Given the description of an element on the screen output the (x, y) to click on. 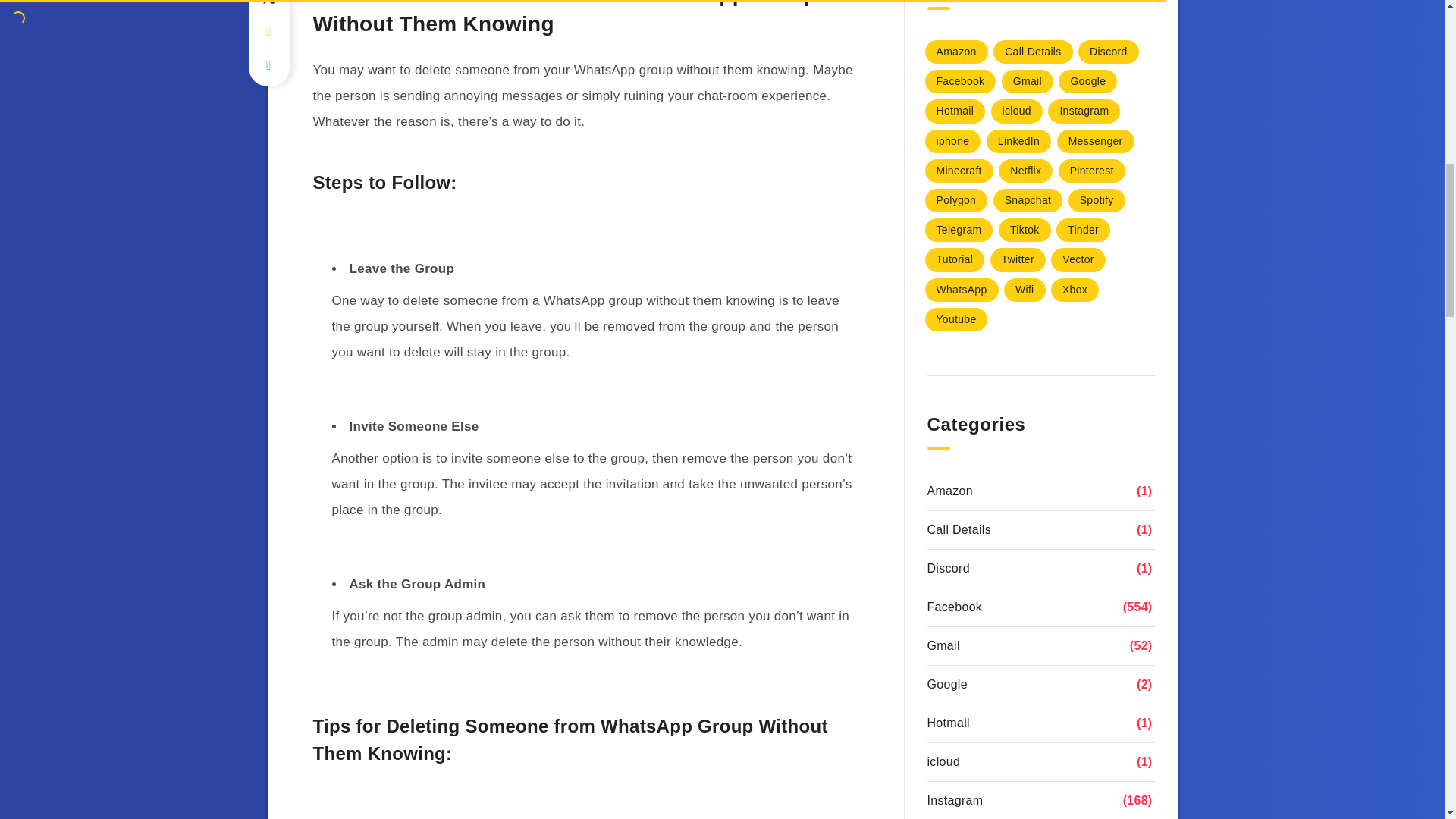
Amazon (956, 51)
Call Details (1031, 51)
Facebook (959, 81)
Discord (1108, 51)
Hotmail (954, 110)
Google (1087, 81)
Gmail (1026, 81)
